Given the description of an element on the screen output the (x, y) to click on. 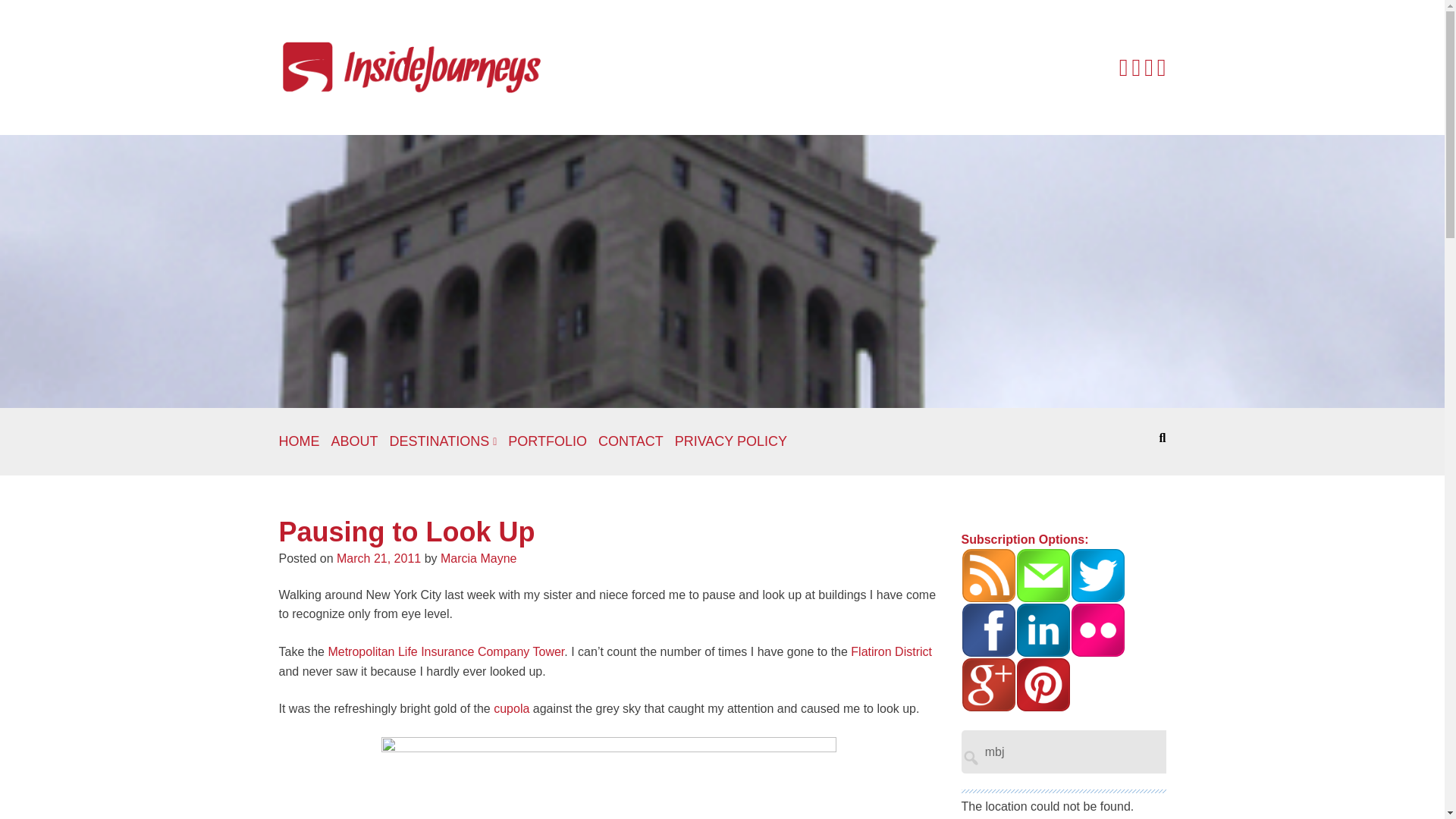
Metropolitan Life Insurance Company Tower (445, 651)
Subscribe via Pinterest (1043, 683)
mbj (1111, 751)
Marcia Mayne (478, 558)
CONTACT (630, 441)
Subscribe via Facebook (988, 628)
Flatiron District (890, 651)
PORTFOLIO (547, 441)
March 21, 2011 (378, 558)
Cupola (511, 707)
